Given the description of an element on the screen output the (x, y) to click on. 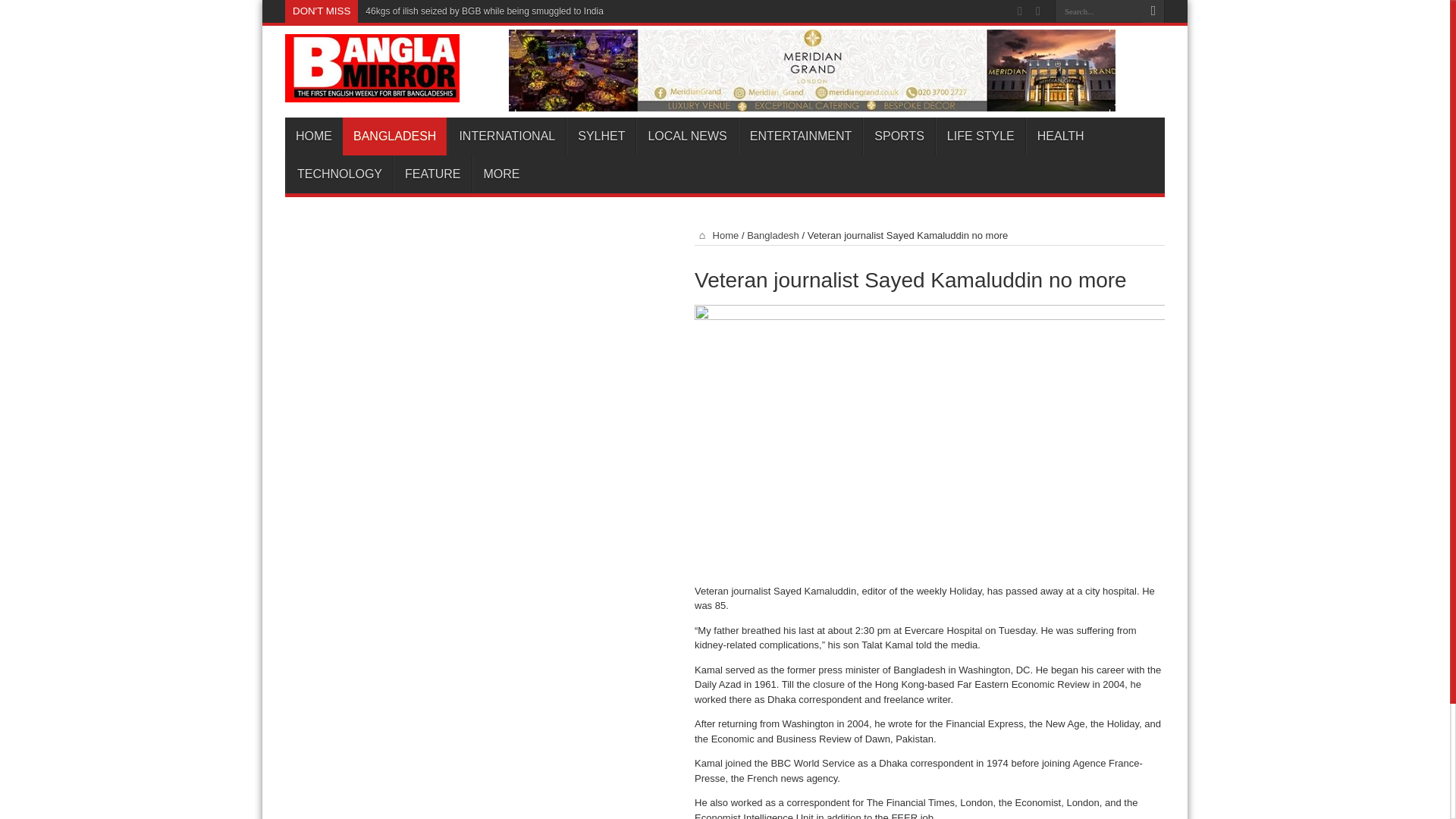
46kgs of ilish seized by BGB while being smuggled to India (484, 11)
Search (1152, 11)
MORE (500, 174)
Search... (1097, 11)
